Given the description of an element on the screen output the (x, y) to click on. 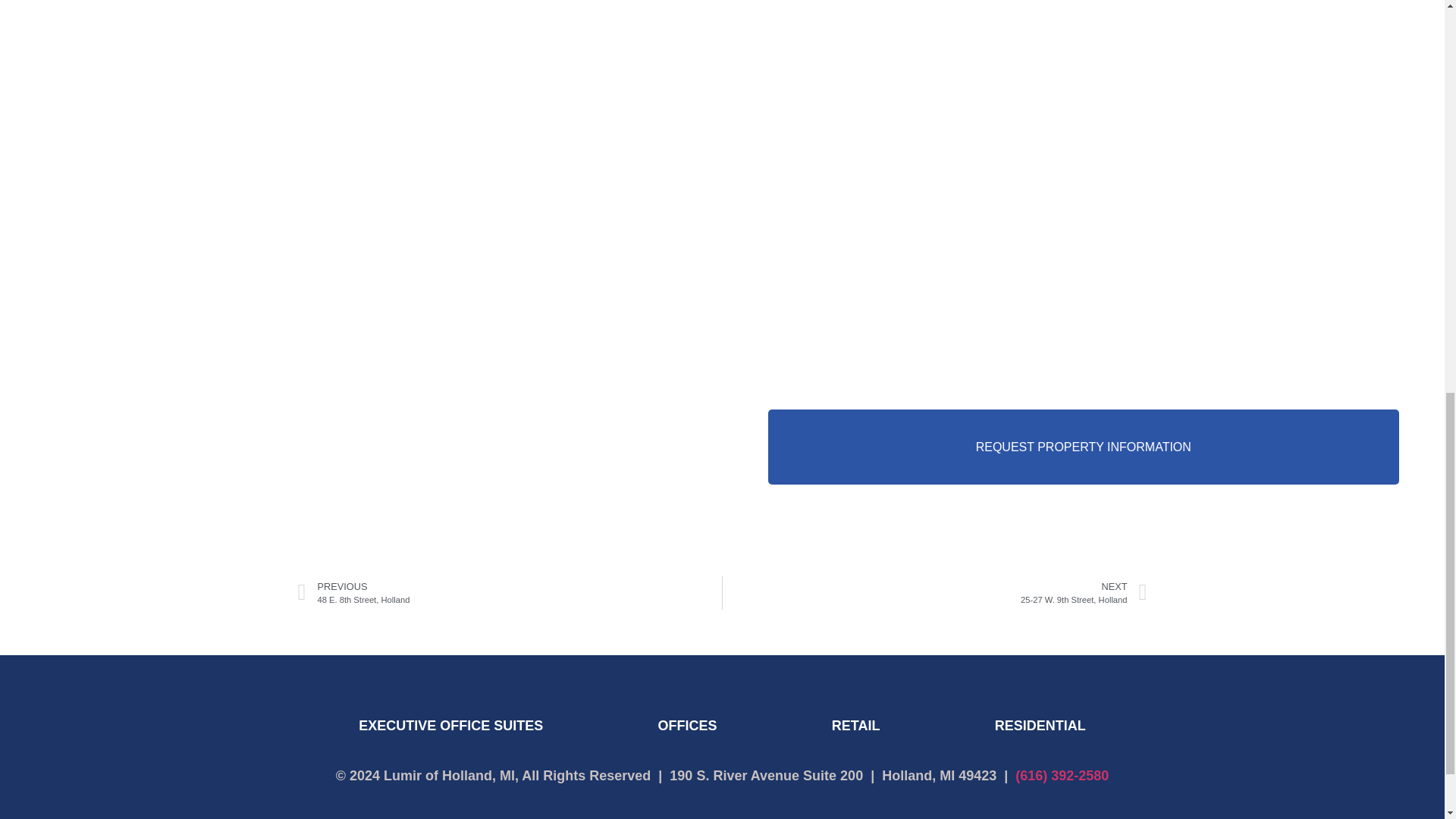
RESIDENTIAL (1039, 725)
REQUEST PROPERTY INFORMATION (1083, 446)
RETAIL (855, 725)
EXECUTIVE OFFICE SUITES (449, 725)
OFFICES (509, 592)
